Given the description of an element on the screen output the (x, y) to click on. 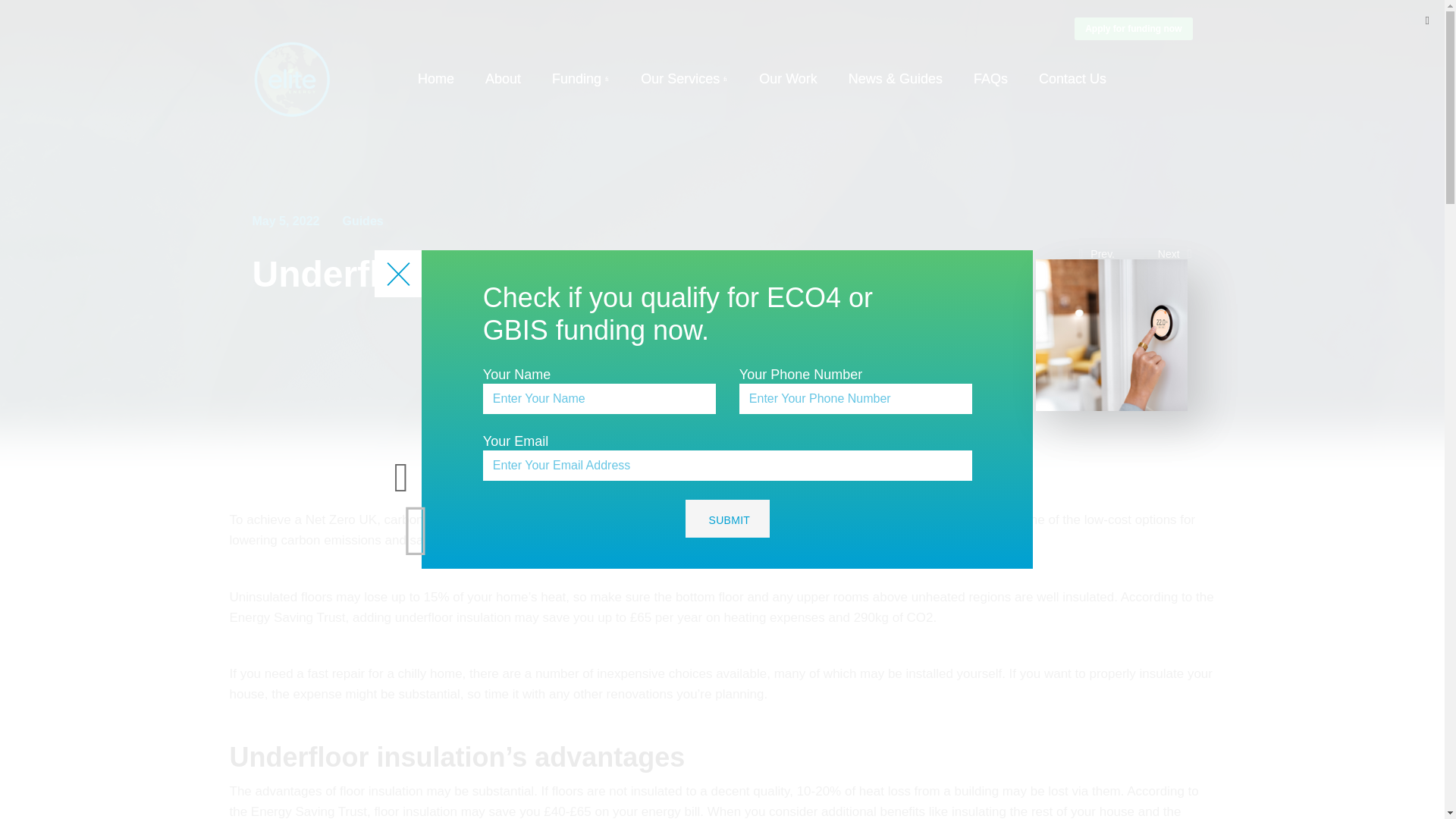
Our Services (684, 78)
About (502, 78)
Funding (580, 78)
Our Work (787, 78)
FAQs (990, 78)
Apply for funding now (1133, 28)
Home (435, 78)
Contact Us (1072, 78)
